Given the description of an element on the screen output the (x, y) to click on. 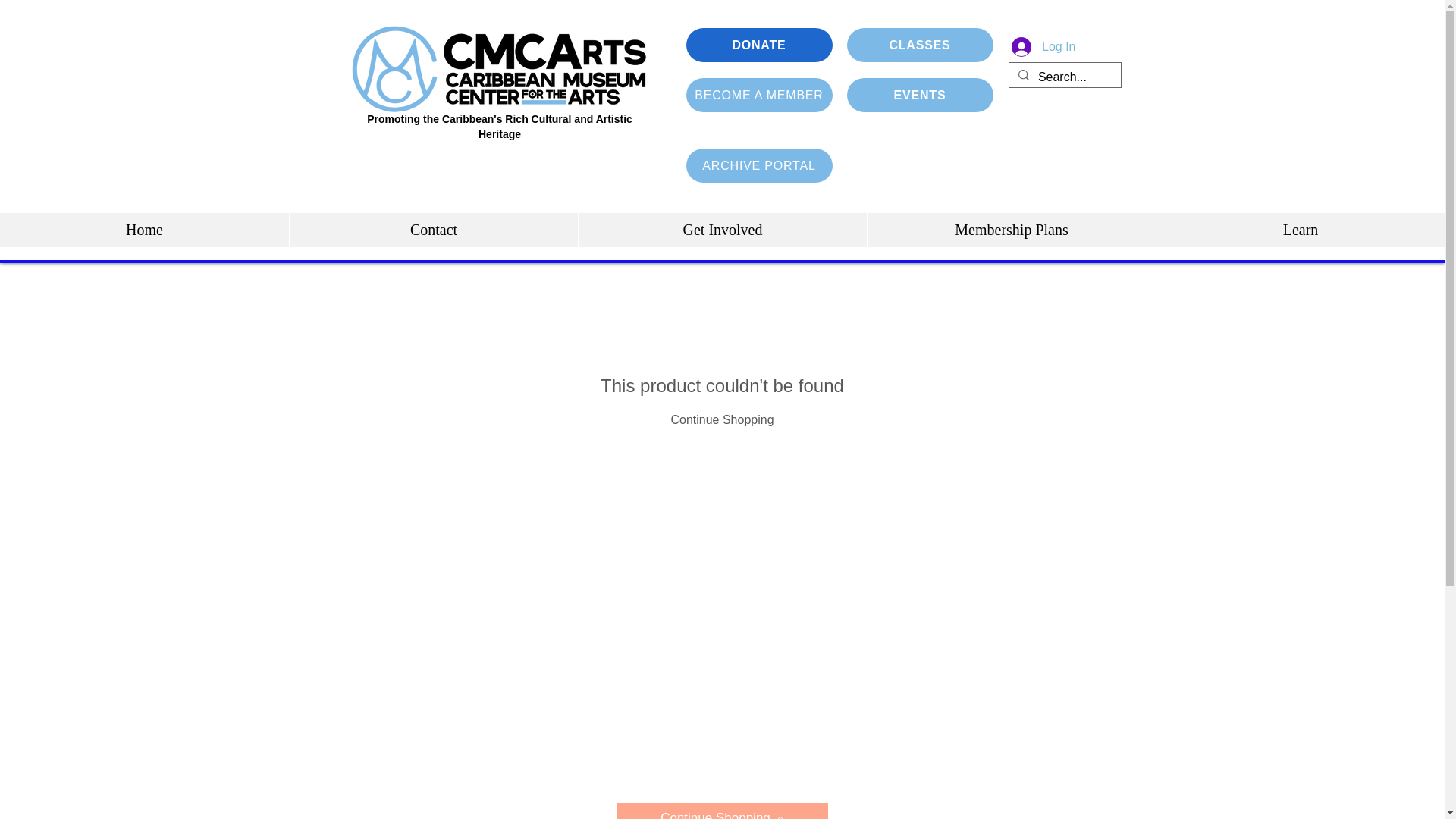
Contact (433, 229)
Home (144, 229)
Continue Shopping (722, 811)
Get Involved (722, 229)
EVENTS (918, 94)
Log In (1043, 46)
CLASSES (918, 44)
DONATE (758, 44)
Continue Shopping (721, 419)
ARCHIVE PORTAL (758, 165)
